Given the description of an element on the screen output the (x, y) to click on. 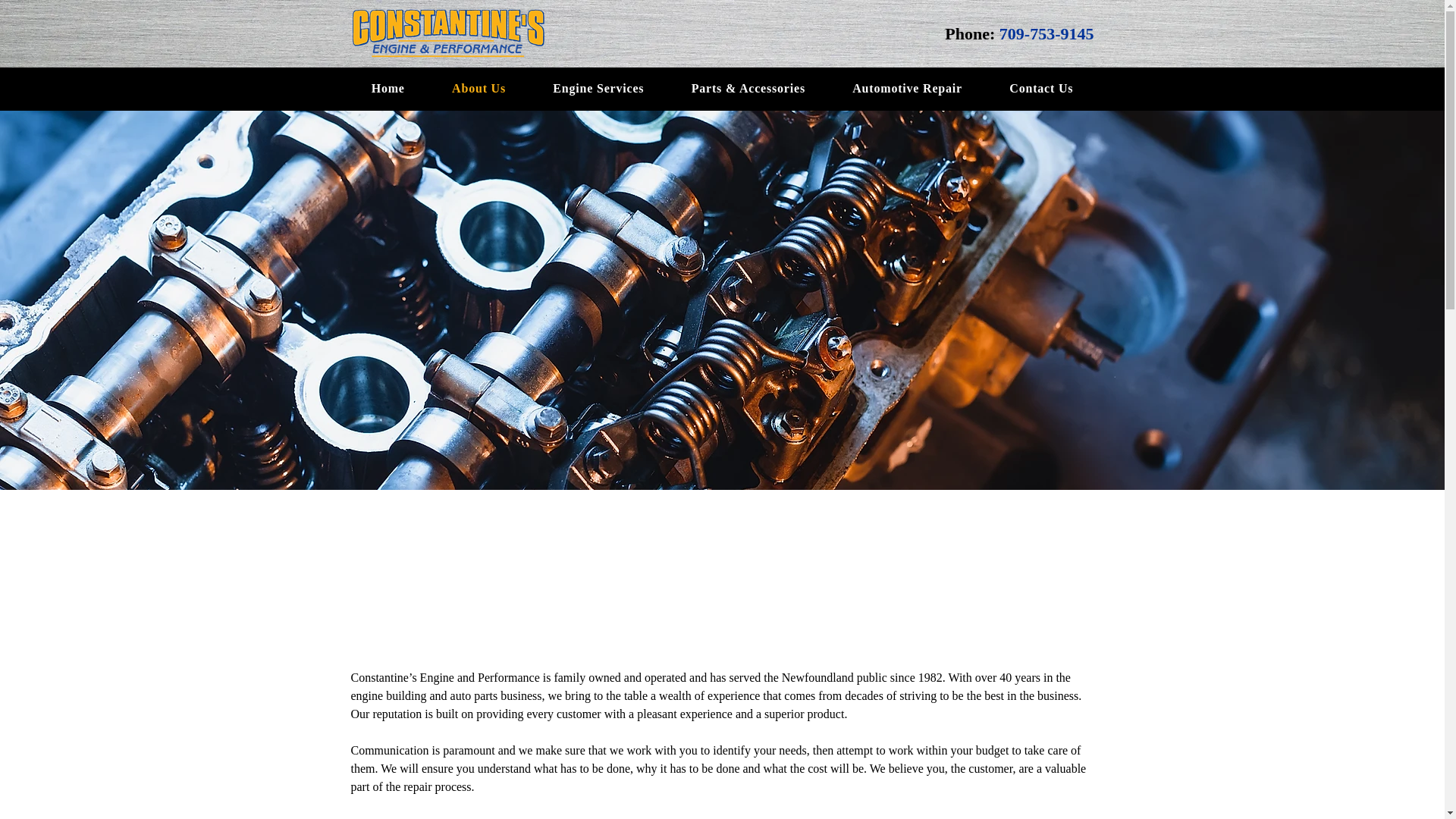
Automotive Repair (906, 88)
Contact Us (1040, 88)
Home (387, 88)
About Us (477, 88)
Engine Services (597, 88)
709-753-9145 (1046, 33)
